Given the description of an element on the screen output the (x, y) to click on. 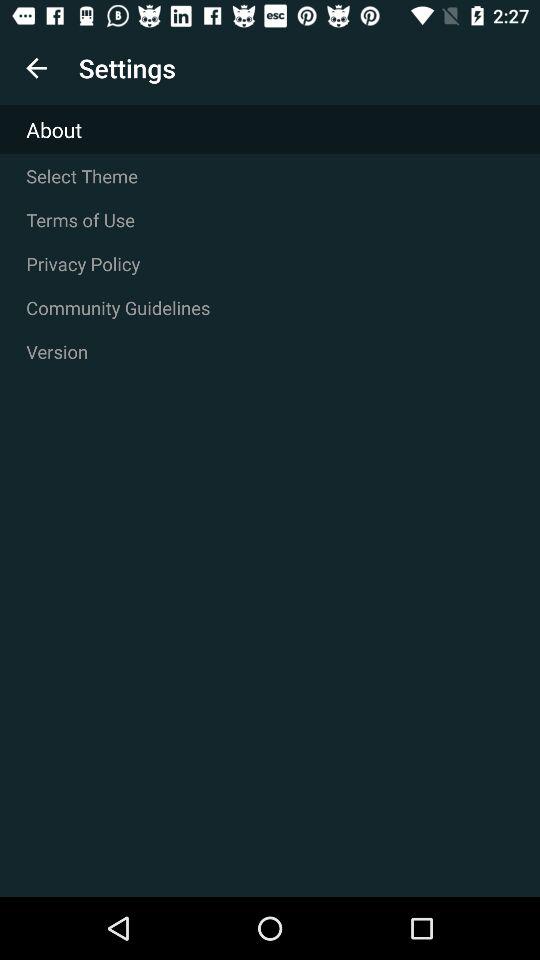
turn off app to the left of the settings icon (36, 68)
